Given the description of an element on the screen output the (x, y) to click on. 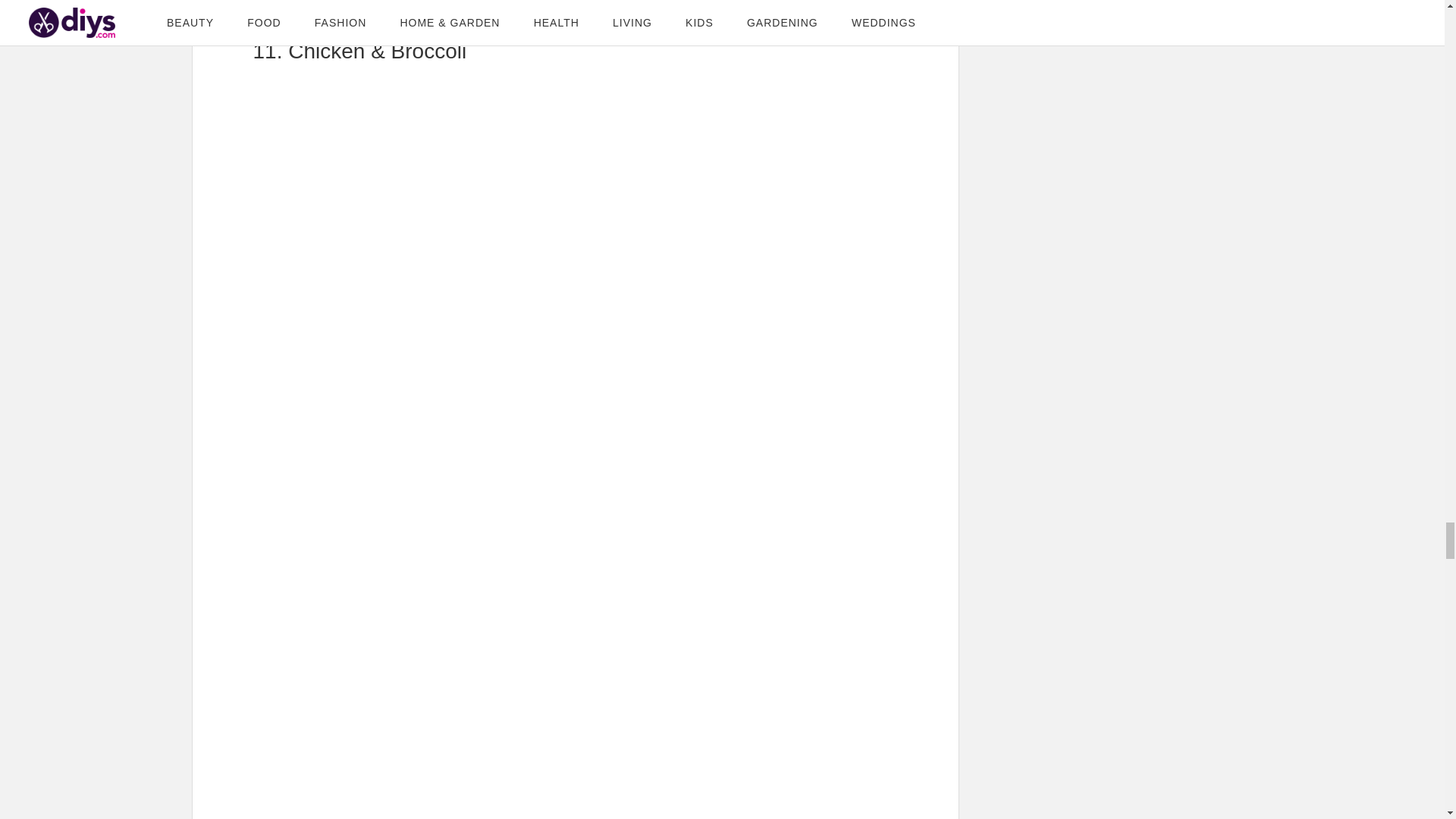
Sprinkles and Sprouts (427, 5)
